Given the description of an element on the screen output the (x, y) to click on. 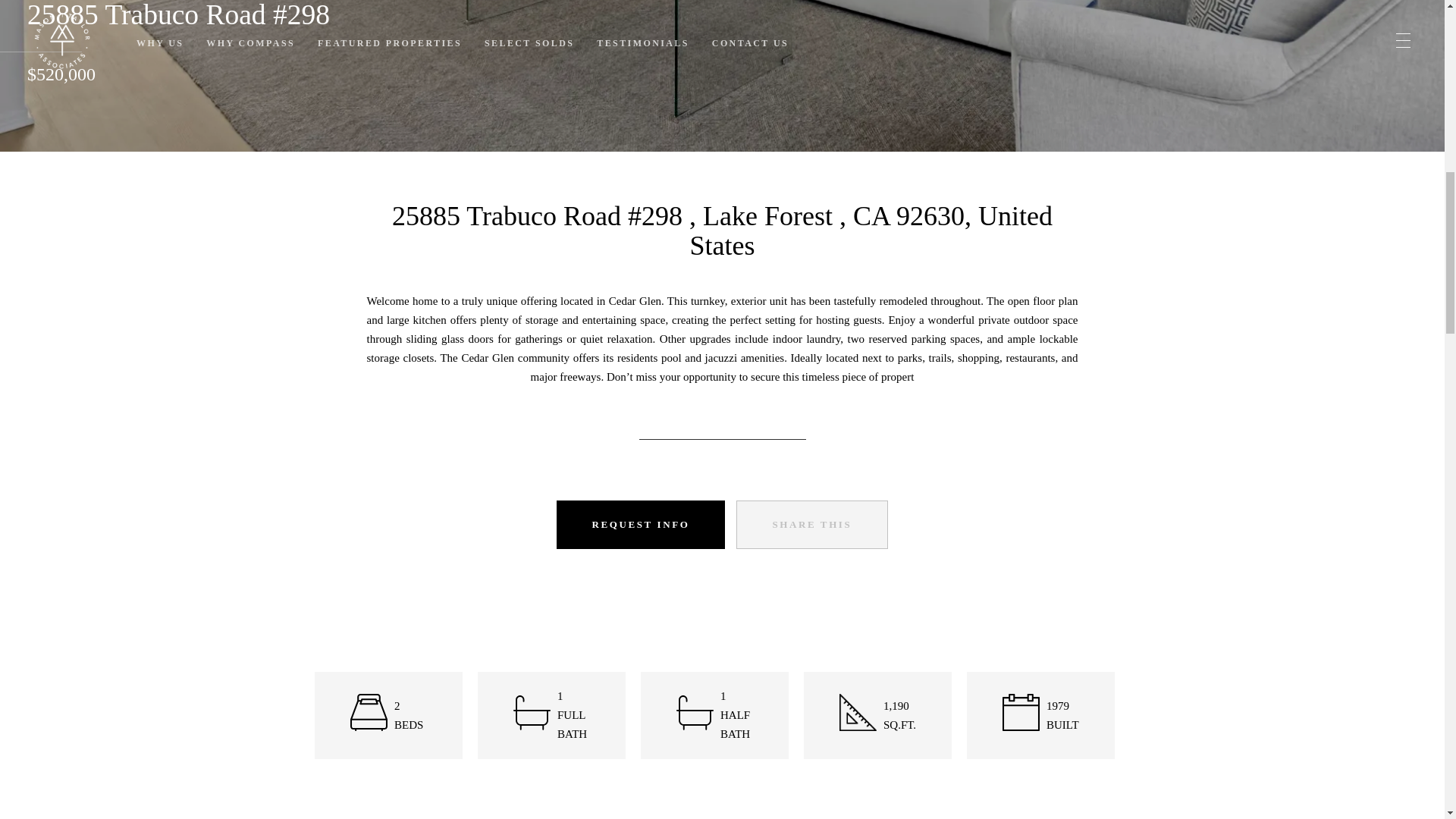
REQUEST INFO (640, 524)
SHARE THIS (812, 524)
